Given the description of an element on the screen output the (x, y) to click on. 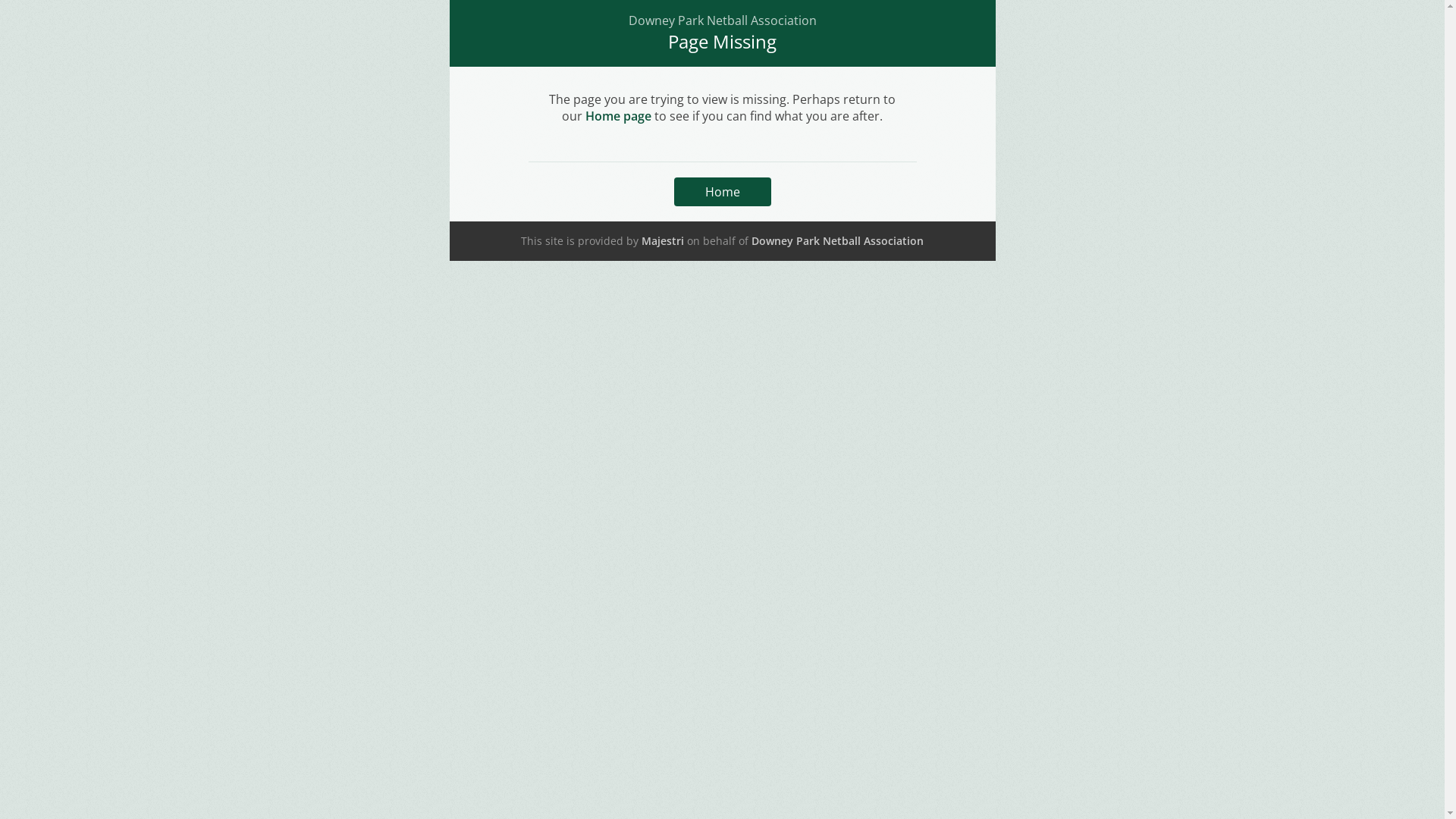
Home page Element type: text (618, 115)
Home Element type: text (721, 191)
Majestri Element type: text (662, 240)
Downey Park Netball Association Element type: text (837, 240)
